Given the description of an element on the screen output the (x, y) to click on. 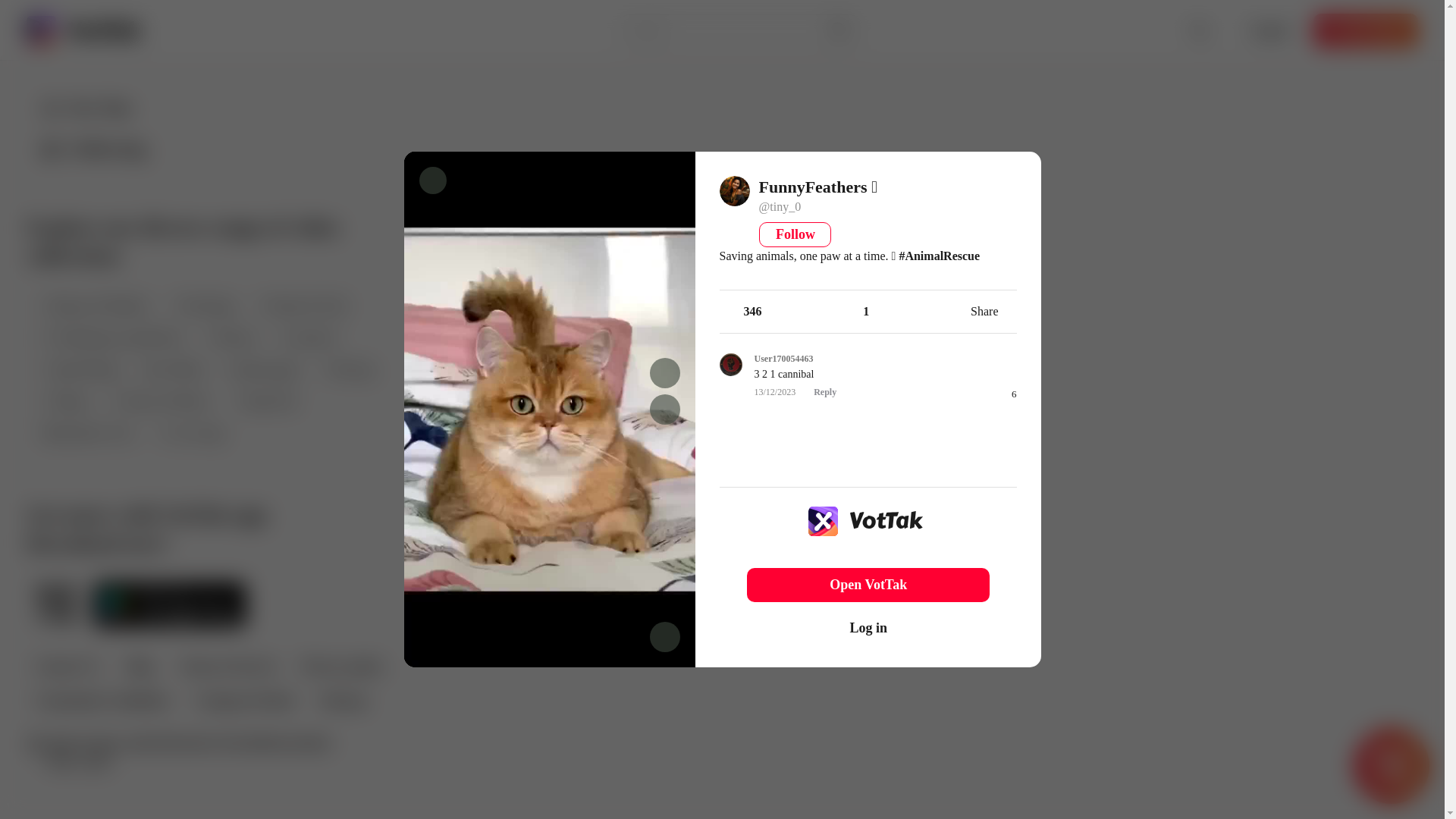
Company Details (244, 702)
Sitemap (342, 702)
Log in (1269, 30)
For You (86, 107)
Blog (139, 668)
Following (93, 148)
Contact Us (66, 668)
Privacy policy (341, 668)
Get the App (1365, 30)
Terms of Service (228, 668)
Community Guidelines (101, 702)
